Given the description of an element on the screen output the (x, y) to click on. 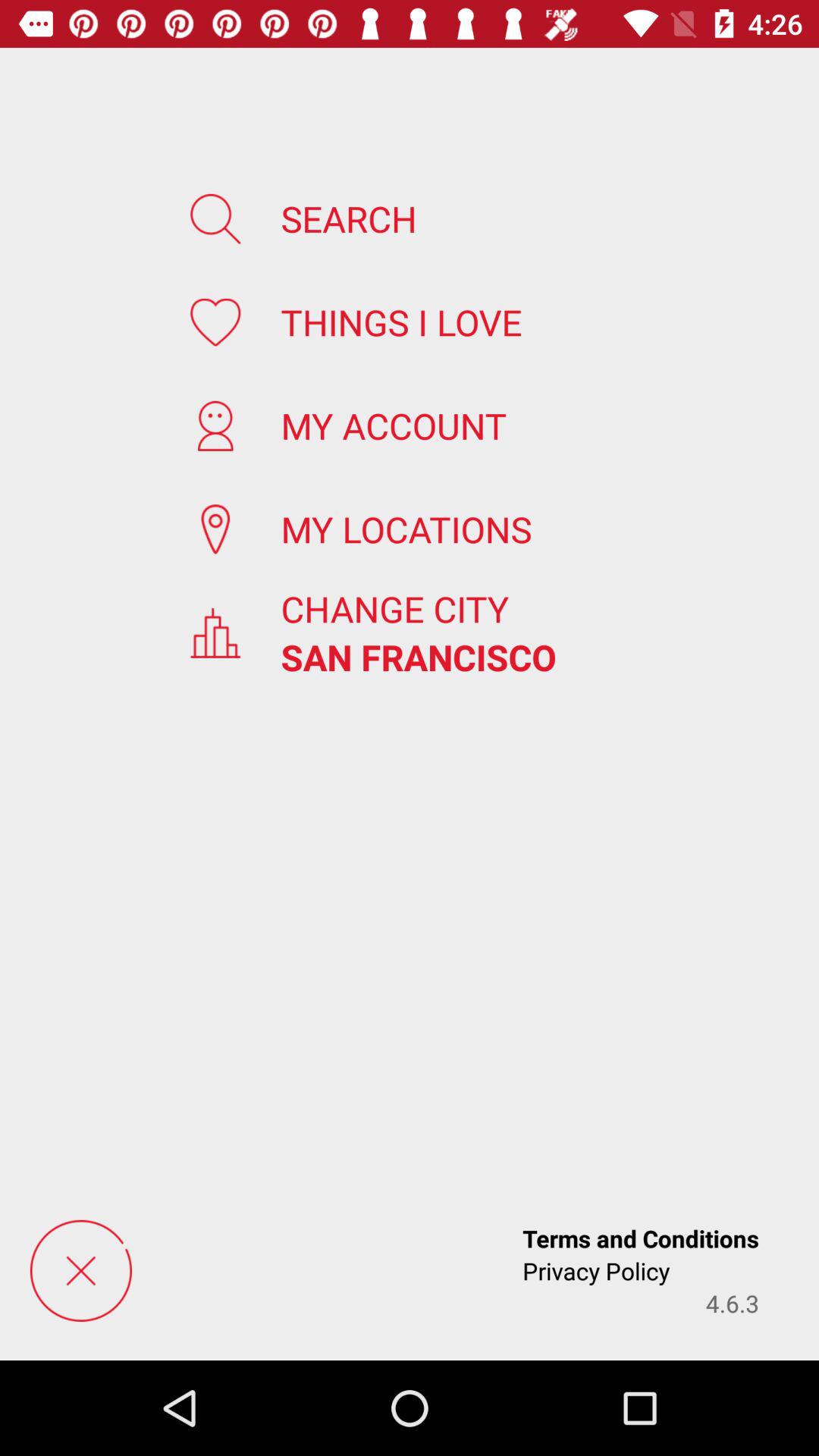
open the app above my account icon (401, 322)
